Given the description of an element on the screen output the (x, y) to click on. 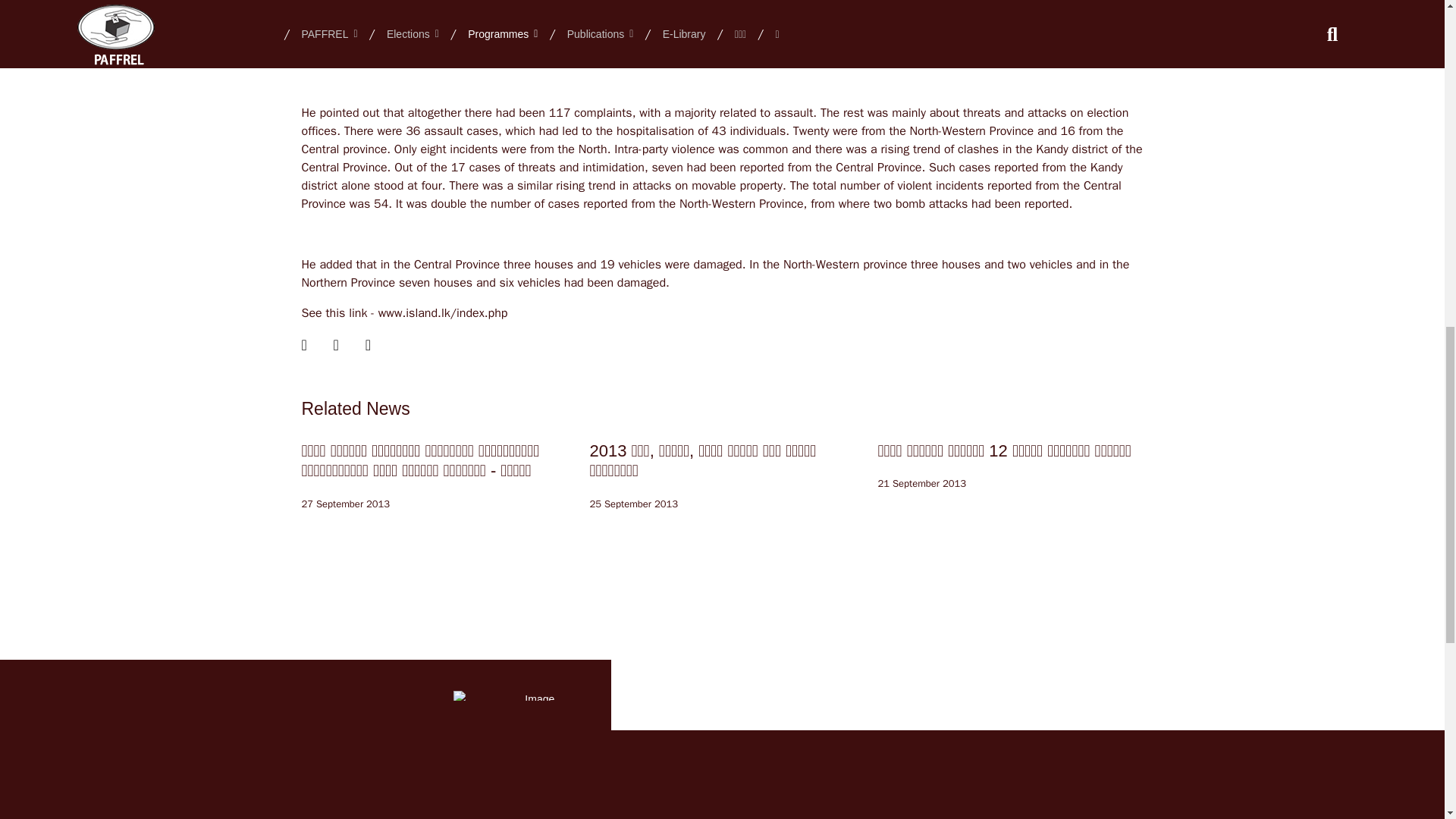
Published: 25 September 2013 (633, 503)
Published: 21 September 2013 (921, 483)
Published: 27 September 2013 (345, 503)
